Given the description of an element on the screen output the (x, y) to click on. 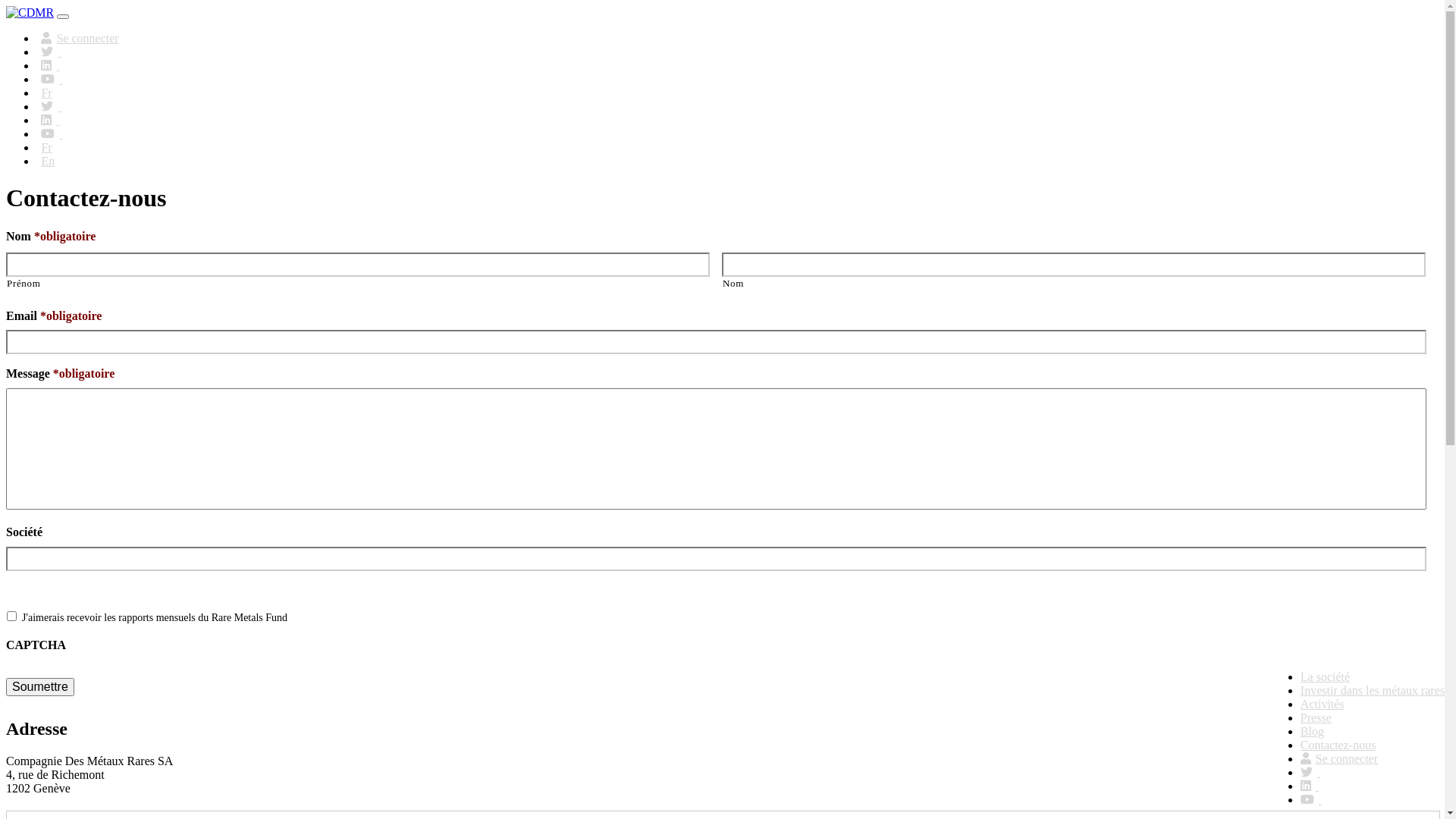
  Element type: text (1310, 799)
Soumettre Element type: text (40, 686)
  Element type: text (1310, 771)
  Element type: text (51, 133)
  Element type: text (50, 51)
  Element type: text (51, 78)
  Element type: text (50, 106)
  Element type: text (1309, 785)
  Element type: text (50, 65)
  Element type: text (50, 119)
Contactez-nous Element type: text (1338, 744)
Fr Element type: text (46, 147)
En Element type: text (47, 160)
Fr Element type: text (46, 92)
Se connecter Element type: text (1338, 758)
Blog Element type: text (1312, 730)
Presse Element type: text (1315, 717)
Se connecter Element type: text (79, 37)
